Given the description of an element on the screen output the (x, y) to click on. 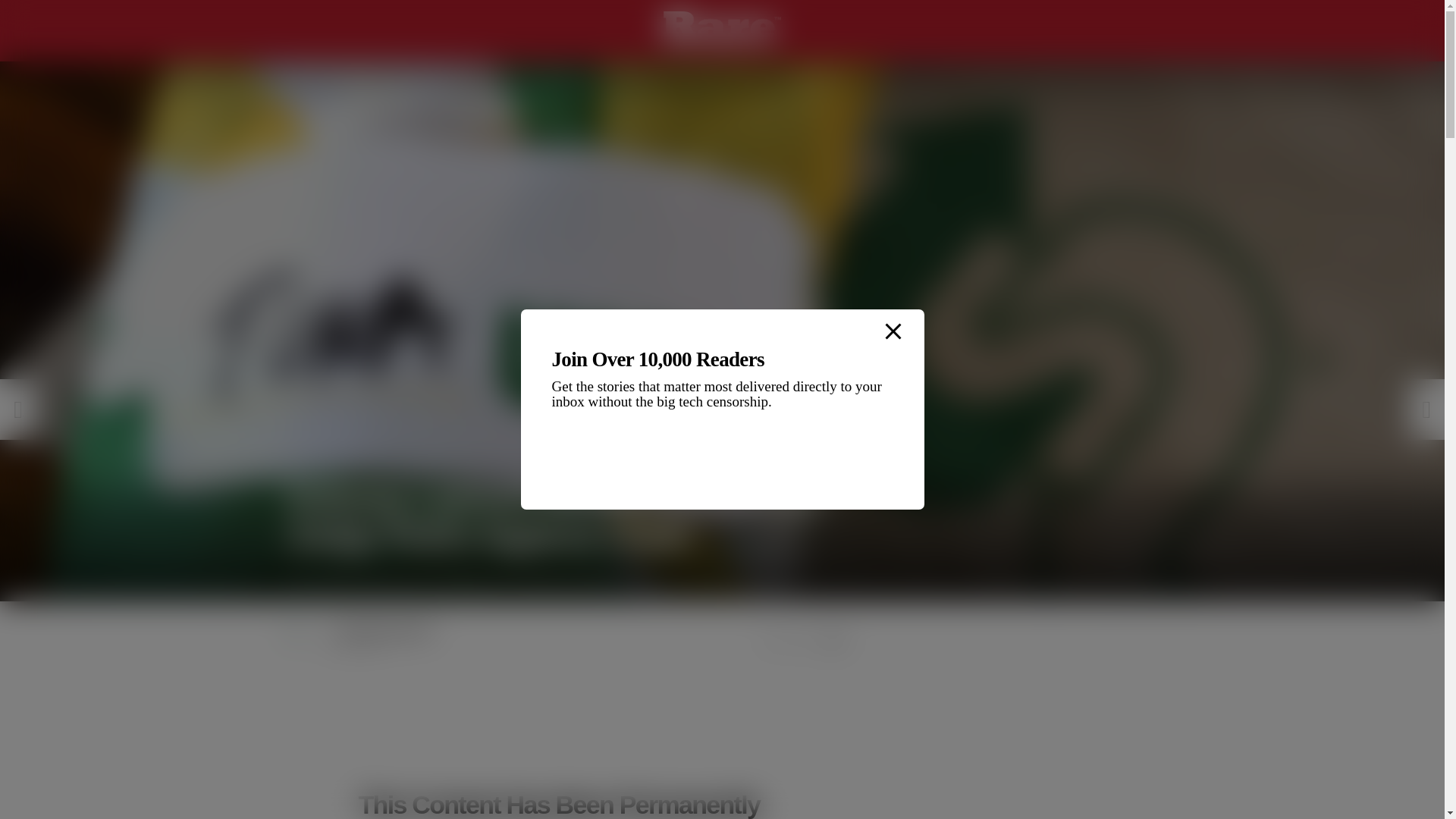
Home (298, 74)
July 14, 2022, 12:52 pm (539, 644)
Posts by Jordan Karlesson (387, 630)
Jordan Karlesson (387, 630)
Rare Life (350, 74)
